Given the description of an element on the screen output the (x, y) to click on. 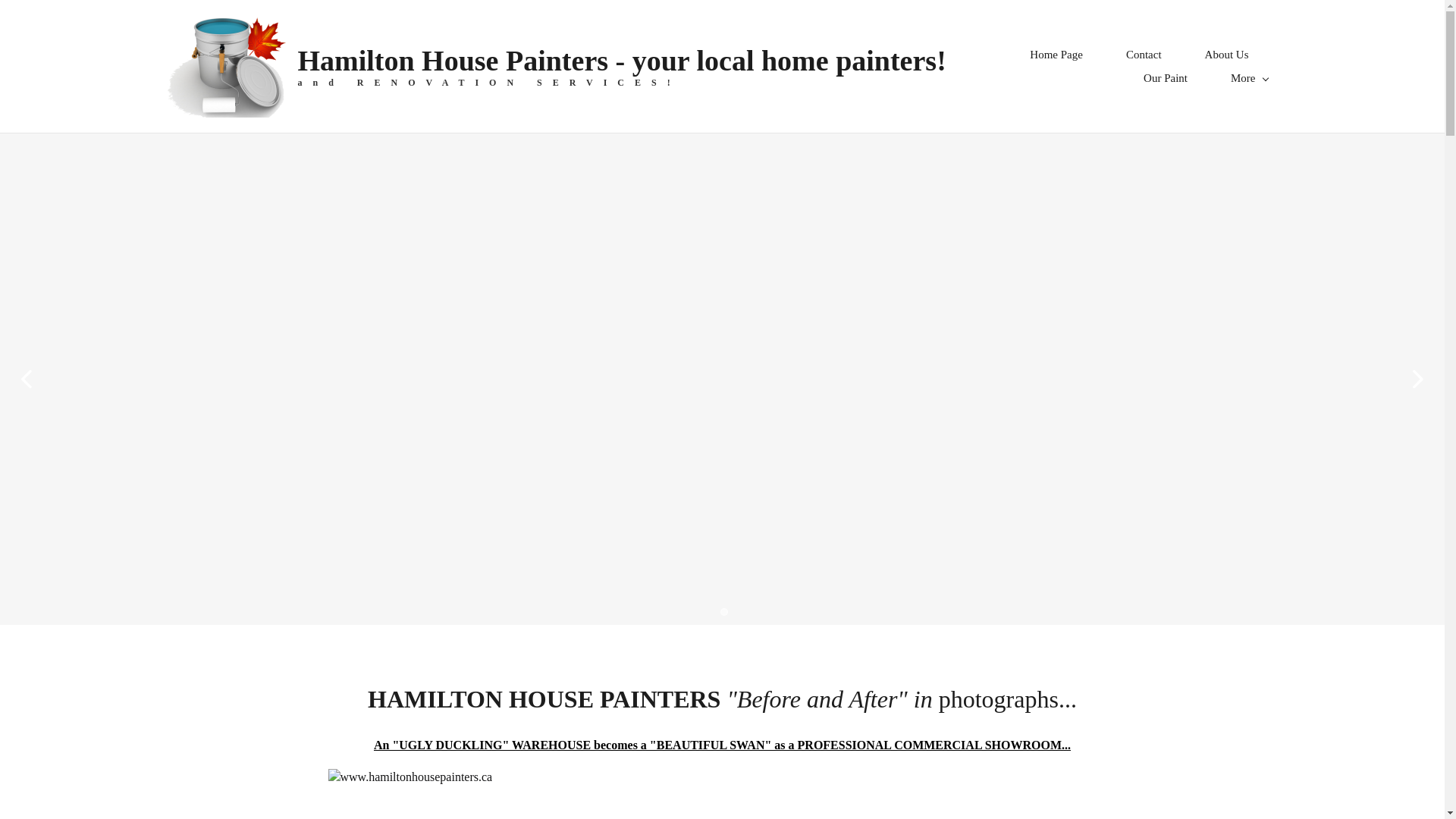
Home Page (1055, 54)
About Us (1226, 54)
More (1248, 78)
Contact (1143, 54)
About Us (1226, 54)
Our Paint (1165, 78)
Contact (1143, 54)
Home Page (1055, 54)
Our Paint (1165, 78)
Logo (225, 66)
More (1248, 78)
